Given the description of an element on the screen output the (x, y) to click on. 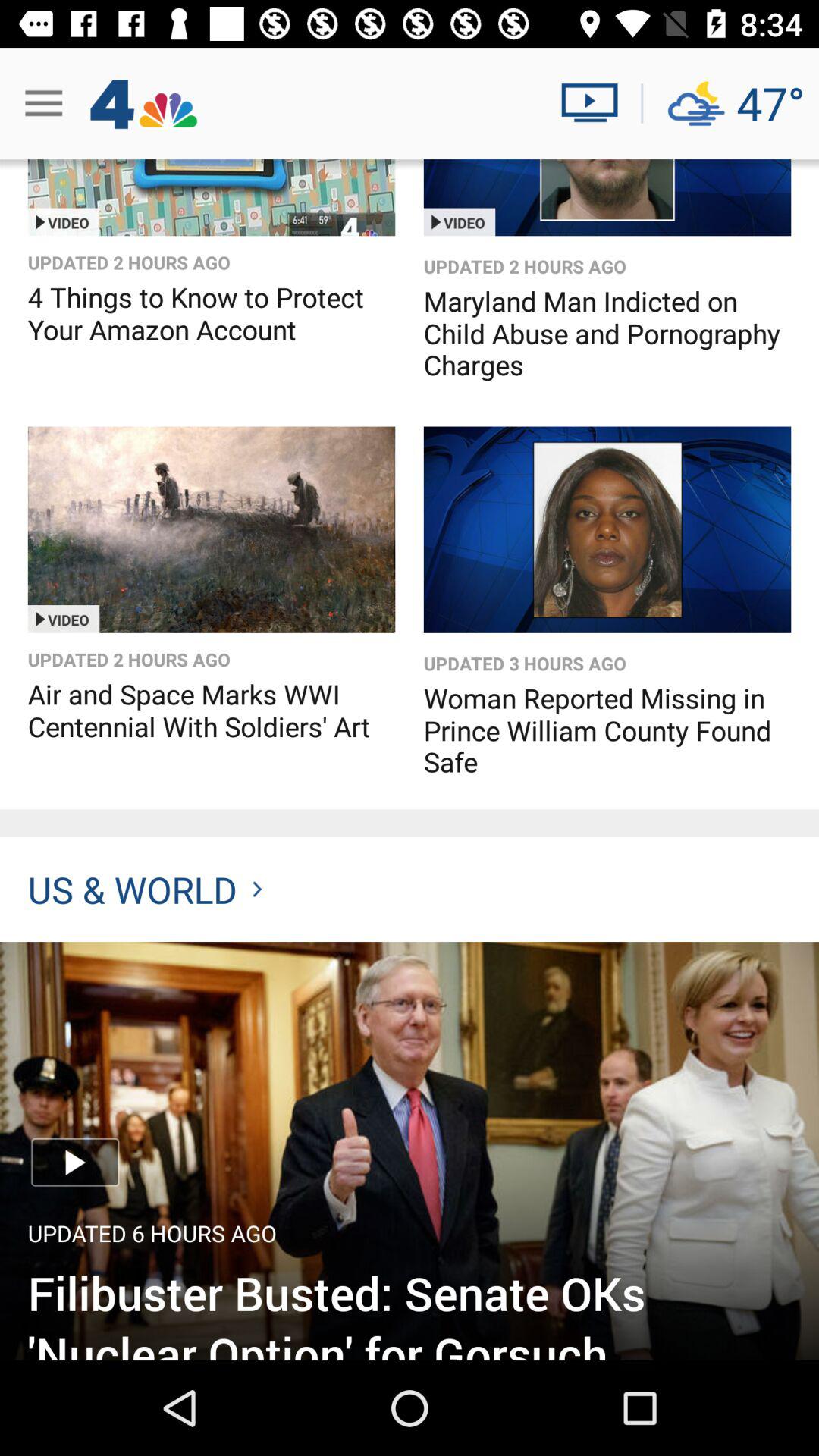
play video (595, 103)
